Given the description of an element on the screen output the (x, y) to click on. 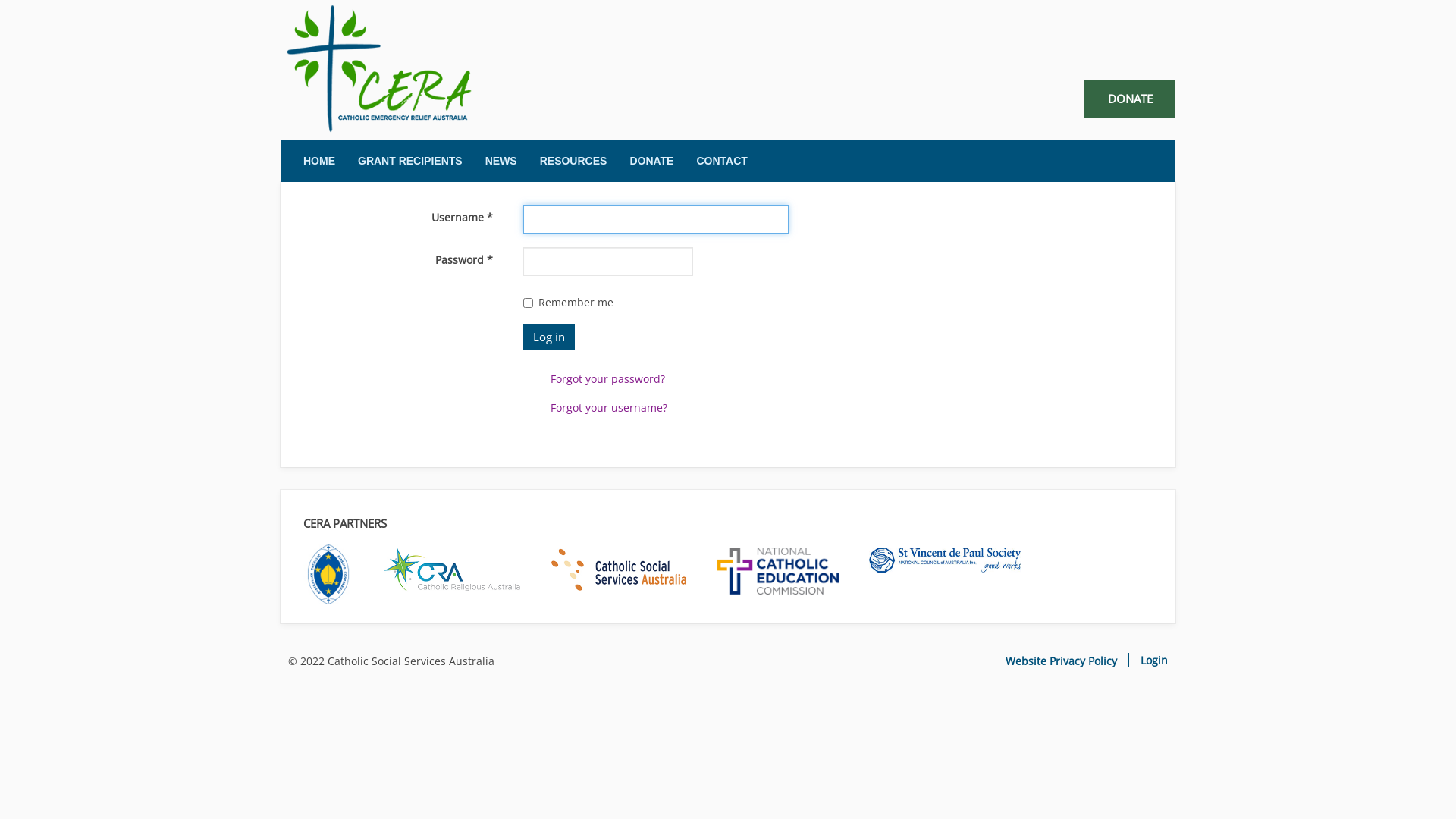
Forgot your password? Element type: text (607, 378)
DONATE Element type: text (651, 161)
HOME Element type: text (319, 161)
Website Privacy Policy Element type: text (1061, 660)
GRANT RECIPIENTS Element type: text (409, 161)
CONTACT Element type: text (721, 161)
NEWS Element type: text (501, 161)
DONATE Element type: text (1129, 98)
Forgot your username? Element type: text (608, 407)
Log in Element type: text (548, 336)
Login Element type: text (1148, 659)
RESOURCES Element type: text (573, 161)
